Given the description of an element on the screen output the (x, y) to click on. 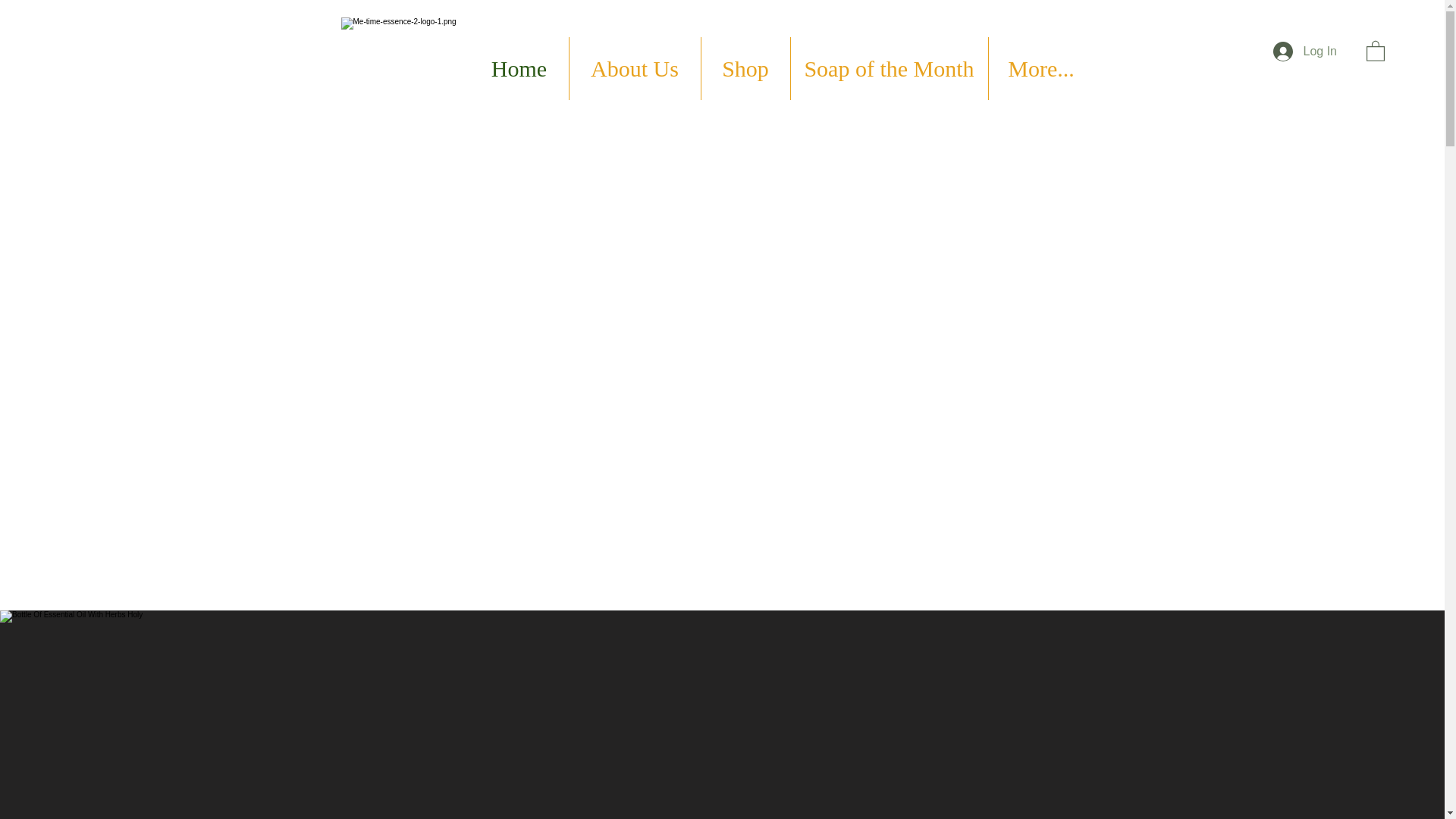
Home (519, 67)
About Us (634, 67)
Shop (744, 67)
Soap of the Month (888, 67)
Log In (1305, 51)
